Given the description of an element on the screen output the (x, y) to click on. 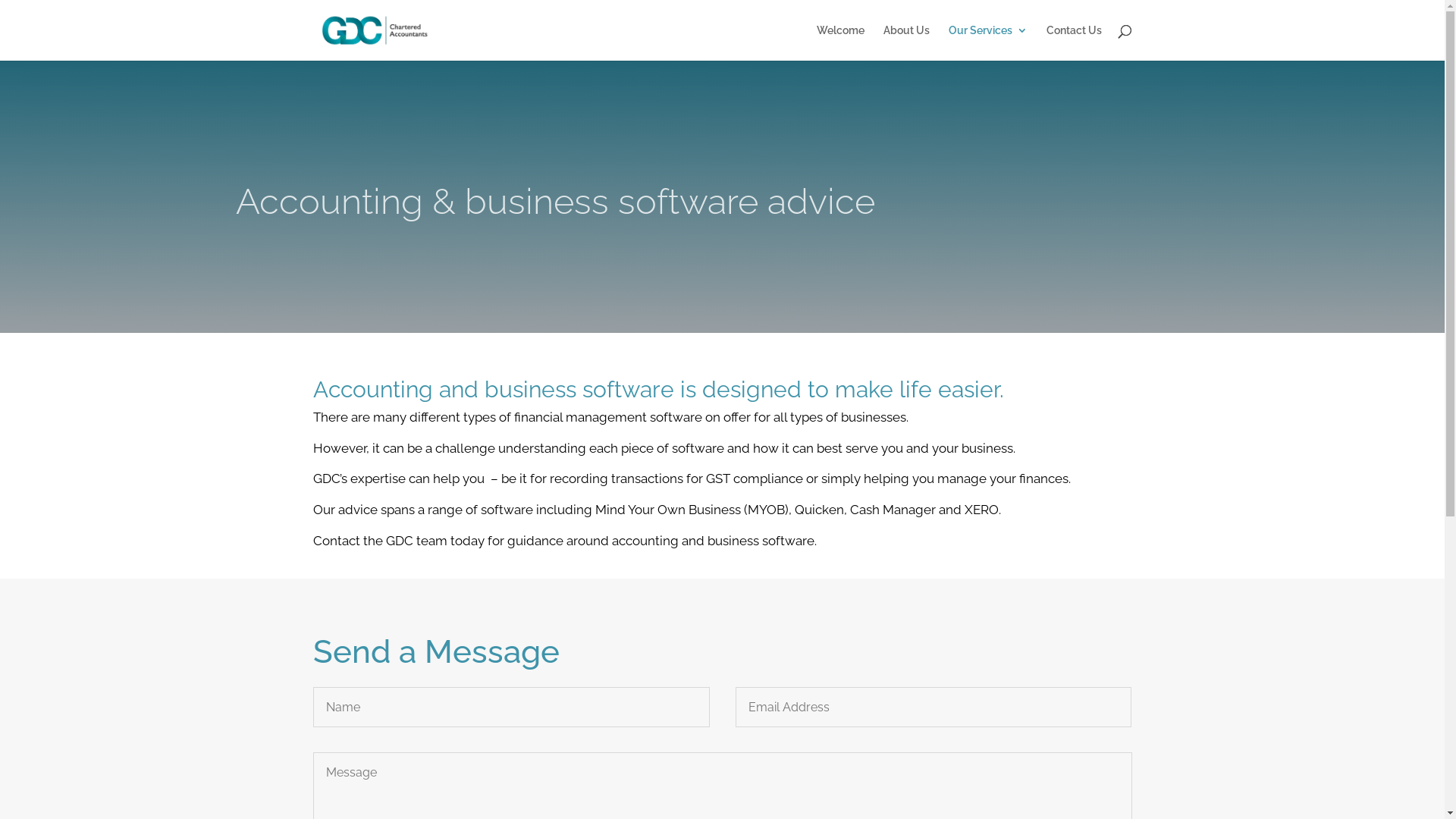
Contact Us Element type: text (1073, 42)
About Us Element type: text (905, 42)
Our Services Element type: text (986, 42)
Welcome Element type: text (839, 42)
